Given the description of an element on the screen output the (x, y) to click on. 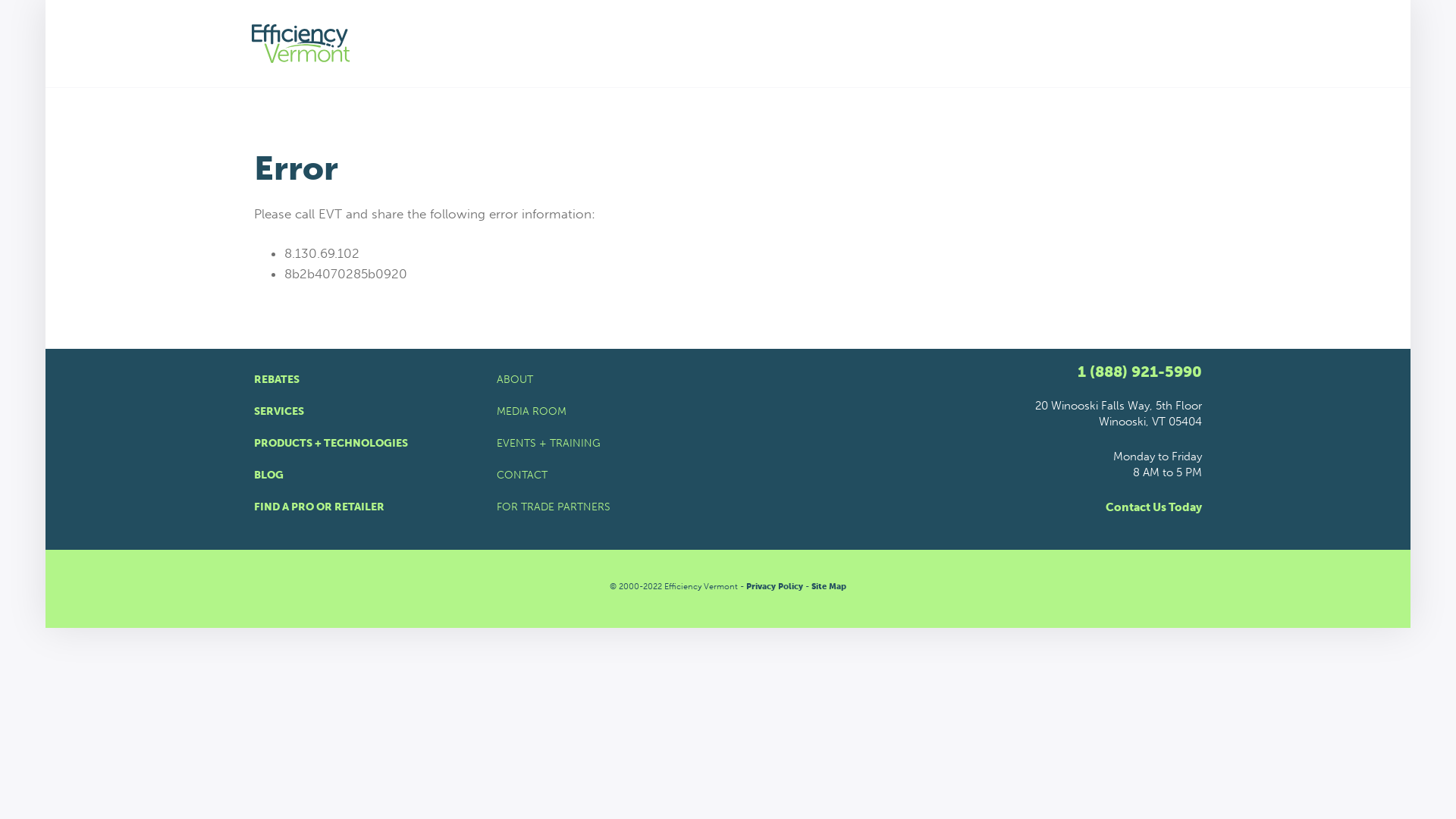
Site Map (827, 586)
Privacy Policy (774, 586)
CONTACT (727, 475)
FOR TRADE PARTNERS (727, 507)
Contact Us Today (1153, 507)
SERVICES (363, 411)
MEDIA ROOM (727, 411)
FIND A PRO OR RETAILER (363, 507)
BLOG (363, 475)
REBATES (363, 379)
